Given the description of an element on the screen output the (x, y) to click on. 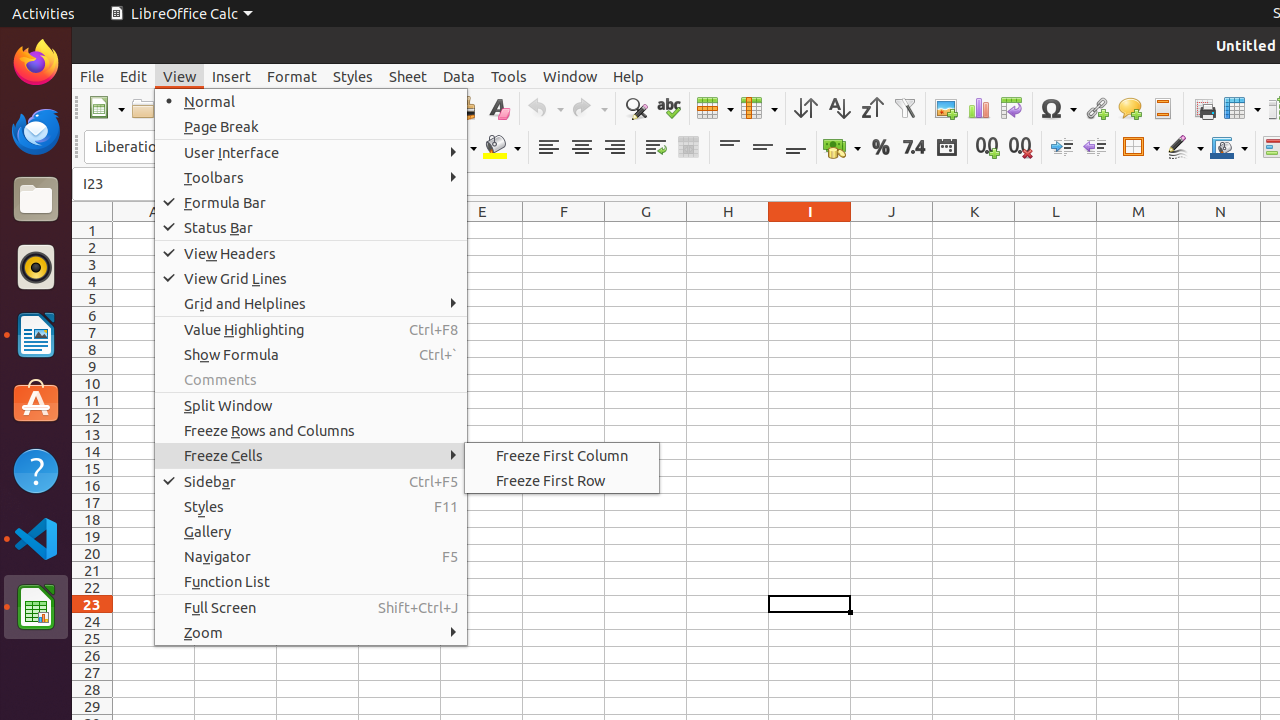
Spelling Element type: push-button (668, 108)
Function List Element type: check-menu-item (311, 581)
Clear Element type: push-button (498, 108)
LibreOffice Calc Element type: push-button (36, 607)
Merge and Center Cells Element type: push-button (688, 147)
